Given the description of an element on the screen output the (x, y) to click on. 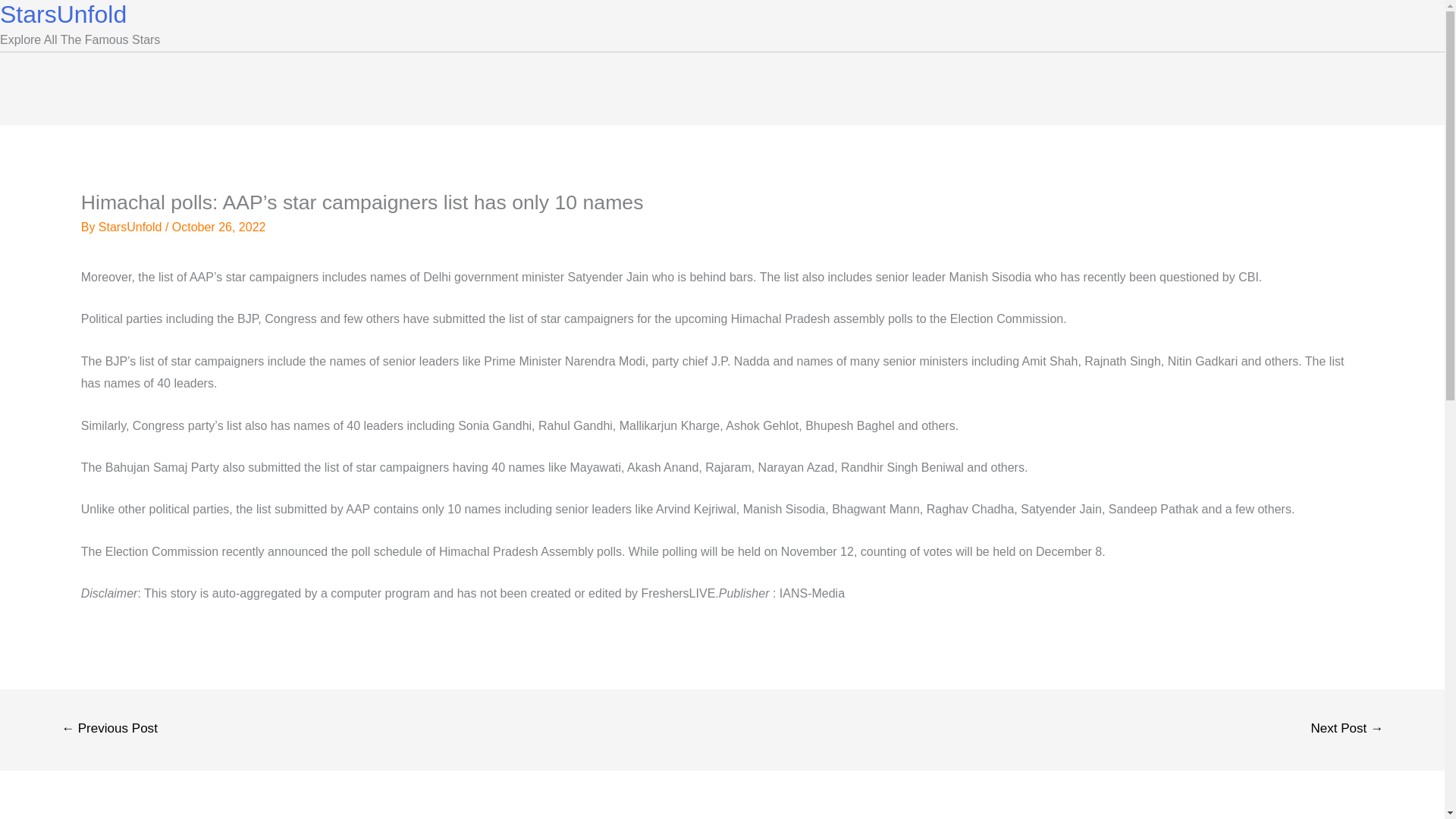
StarsUnfold (63, 13)
View all posts by StarsUnfold (132, 226)
StarsUnfold (132, 226)
